Given the description of an element on the screen output the (x, y) to click on. 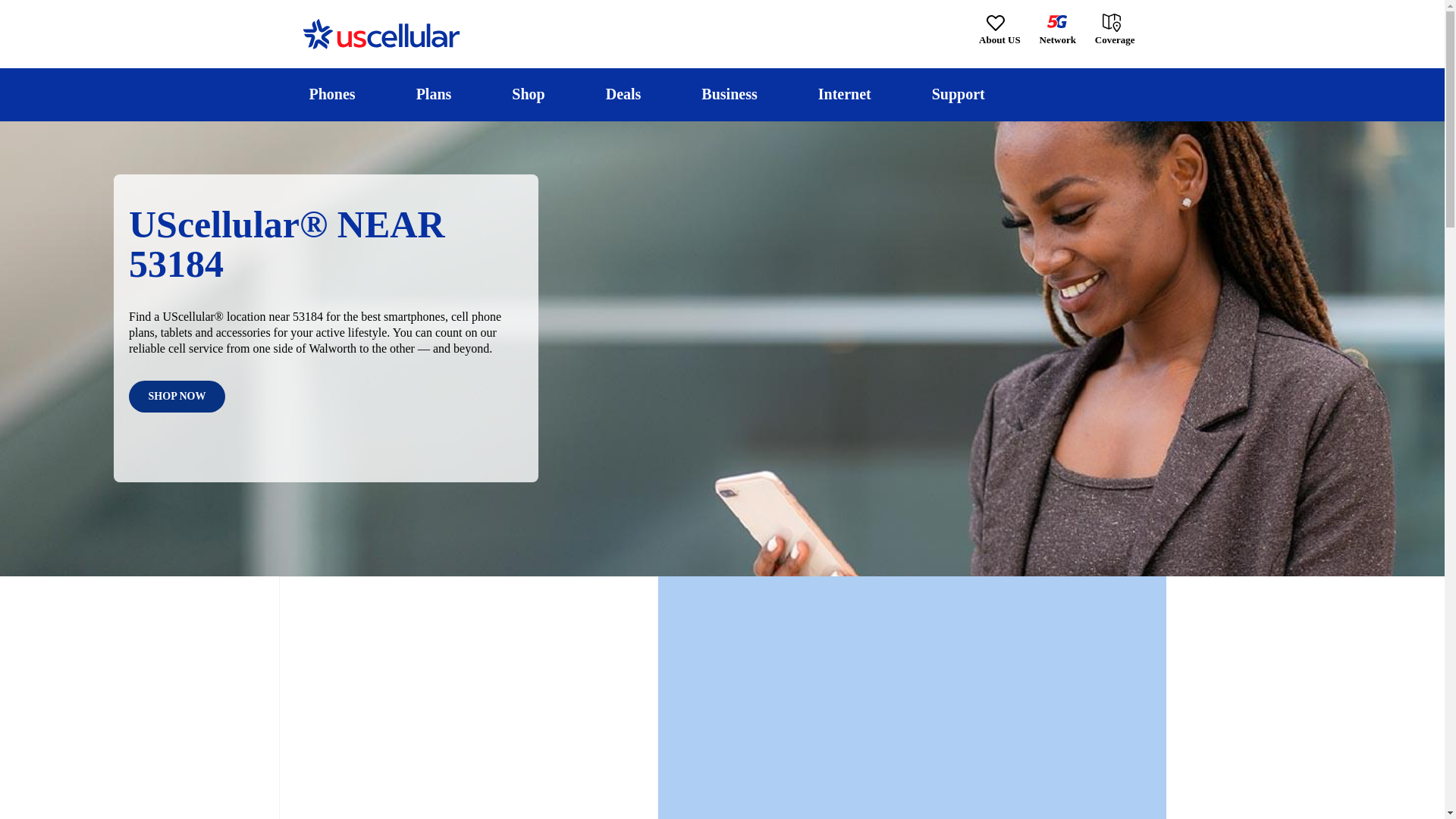
Shop (528, 94)
Support (957, 94)
Phones (332, 94)
Coverage (1115, 29)
Business (729, 94)
Network (1057, 30)
SHOP NOW (177, 396)
Deals (623, 94)
About US (999, 30)
Plans (433, 94)
Internet (844, 94)
